Given the description of an element on the screen output the (x, y) to click on. 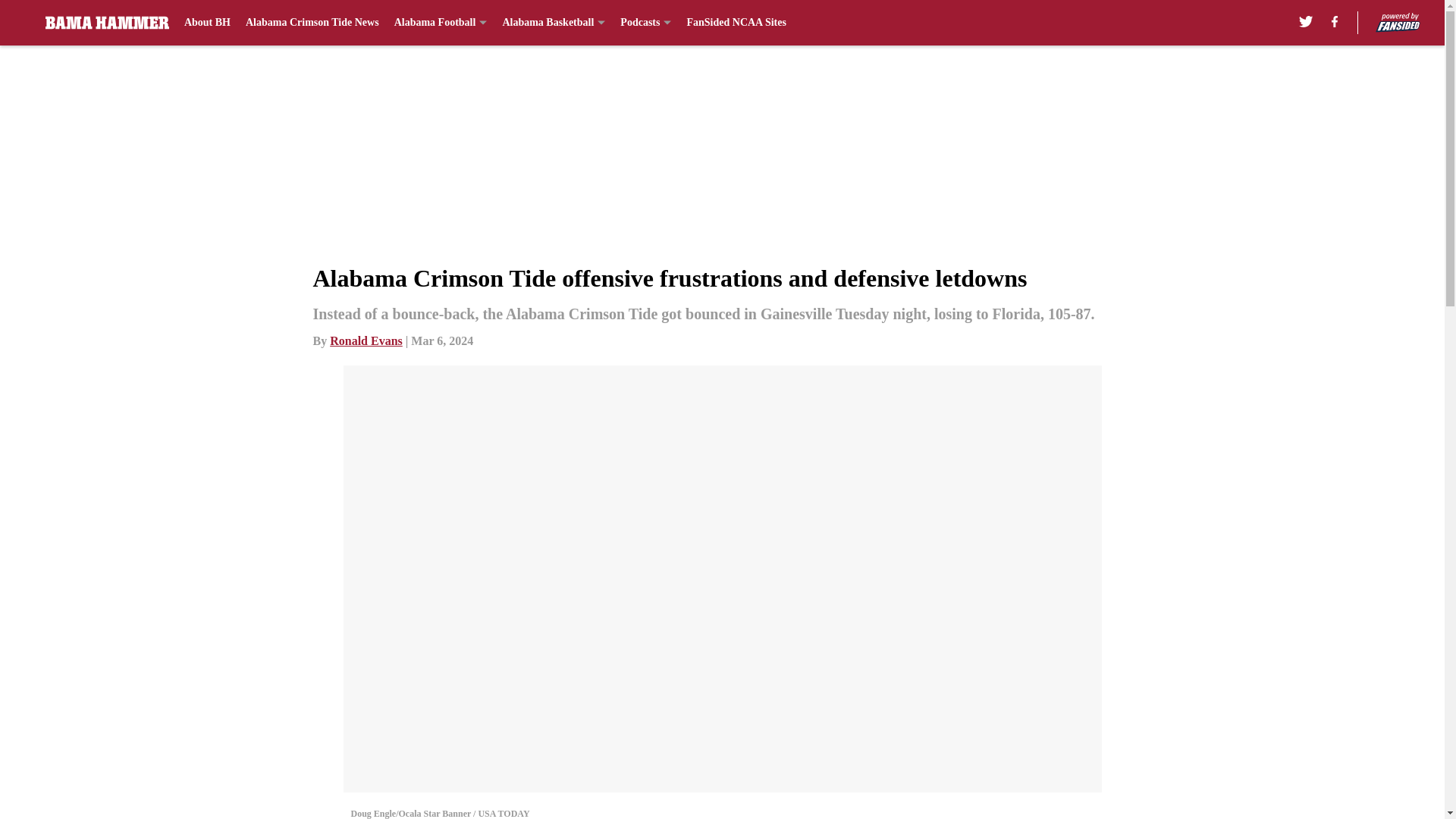
Alabama Crimson Tide News (312, 22)
About BH (207, 22)
Ronald Evans (366, 340)
FanSided NCAA Sites (735, 22)
